Given the description of an element on the screen output the (x, y) to click on. 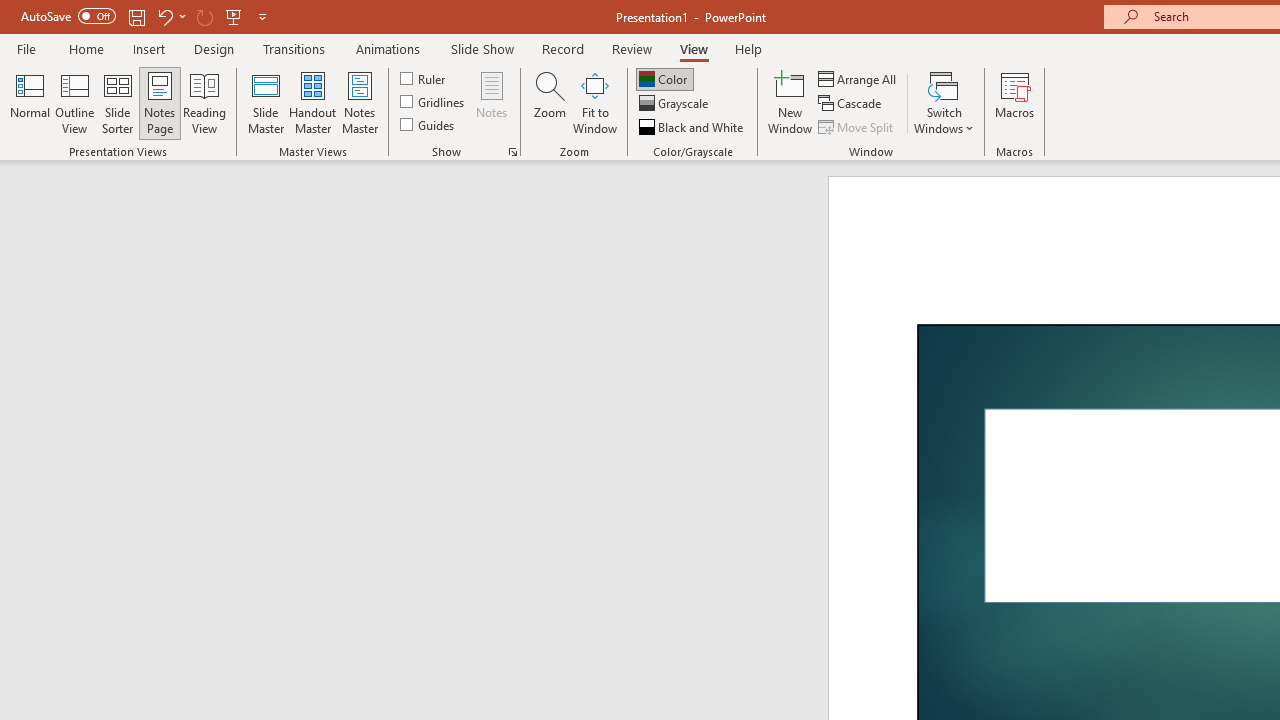
Color (664, 78)
Move Split (857, 126)
Grid Settings... (512, 151)
Handout Master (312, 102)
Insert (149, 48)
Help (748, 48)
Zoom... (549, 102)
Outline View (74, 102)
Undo (170, 15)
Slide Master (265, 102)
Transitions (294, 48)
Slide Show (481, 48)
Slide Sorter (118, 102)
Review (631, 48)
